Given the description of an element on the screen output the (x, y) to click on. 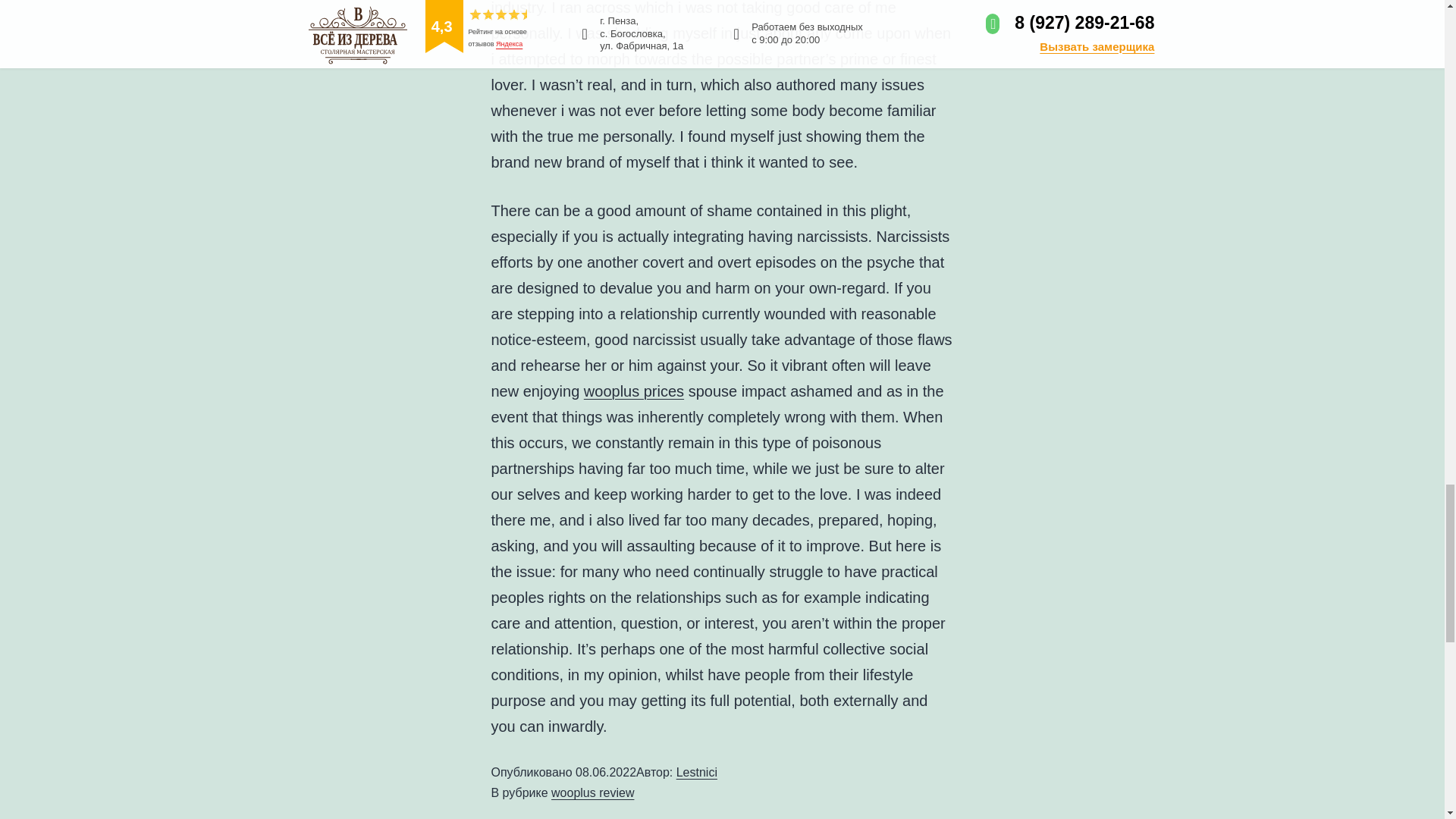
wooplus review (592, 792)
wooplus prices (633, 391)
Lestnici (697, 771)
